Given the description of an element on the screen output the (x, y) to click on. 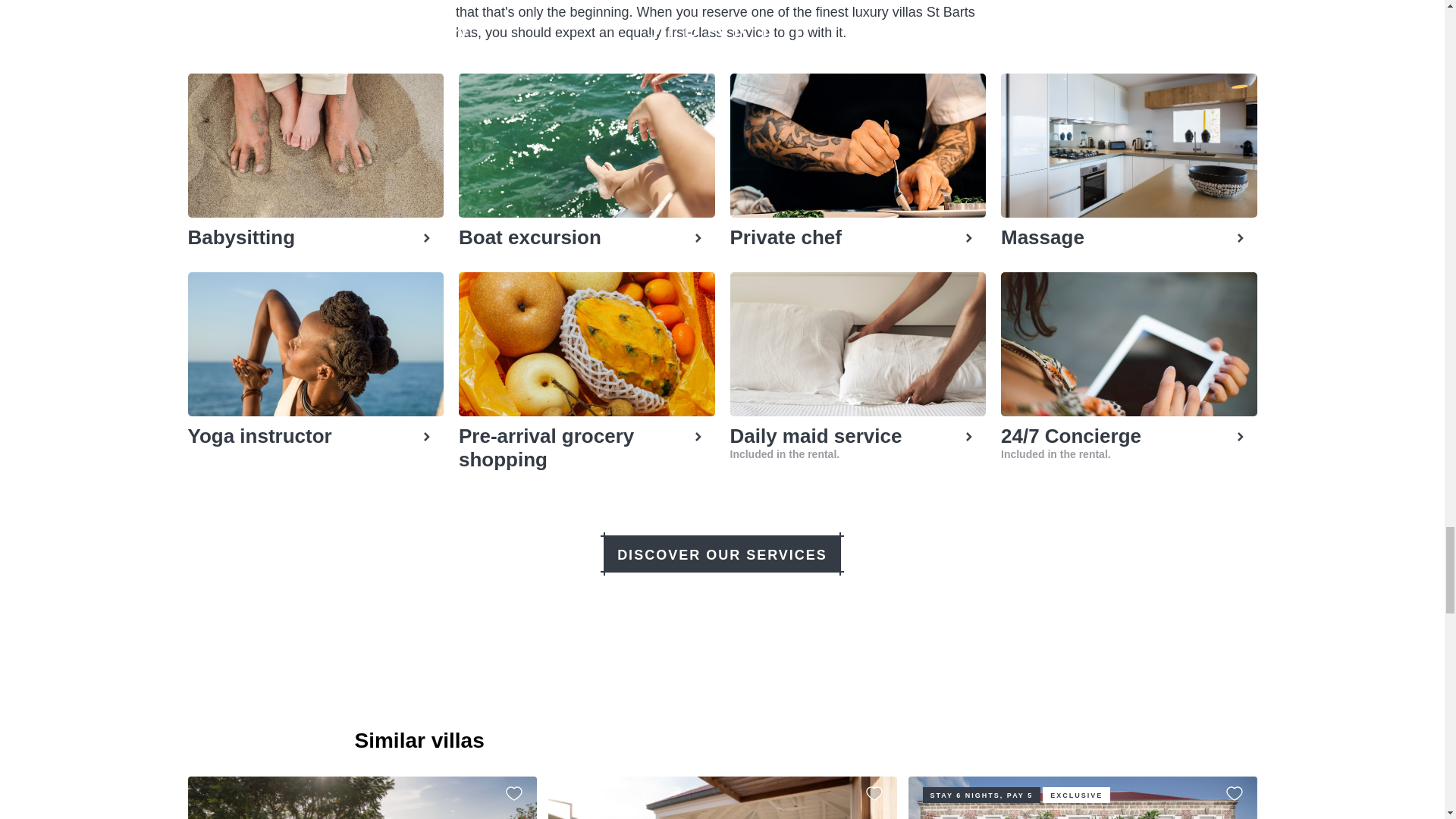
Like (513, 793)
Like (874, 793)
Like (1233, 793)
